Given the description of an element on the screen output the (x, y) to click on. 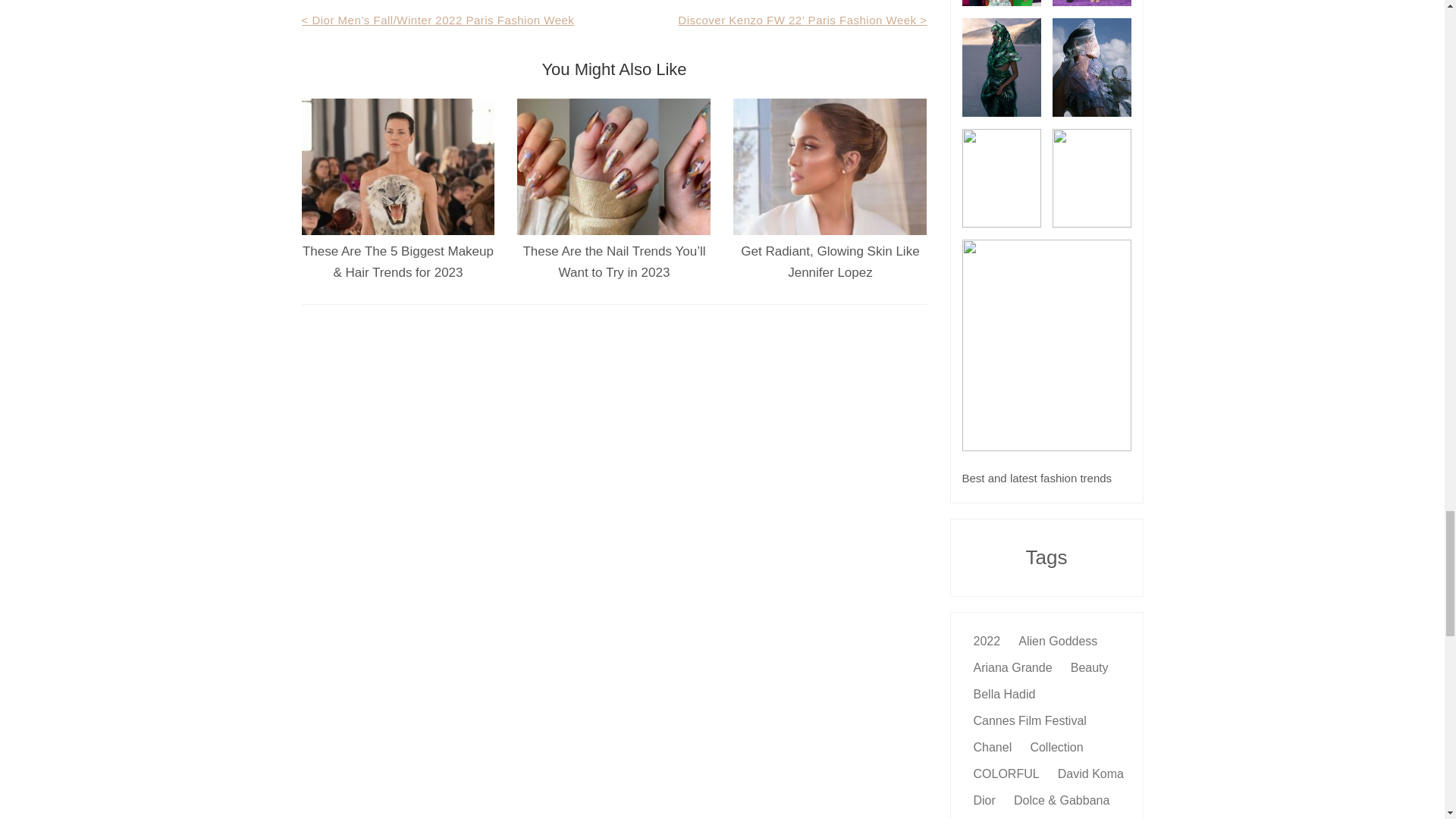
Alien Goddess (1057, 640)
Get Radiant, Glowing Skin Like Jennifer Lopez (829, 262)
2022 (987, 640)
